Given the description of an element on the screen output the (x, y) to click on. 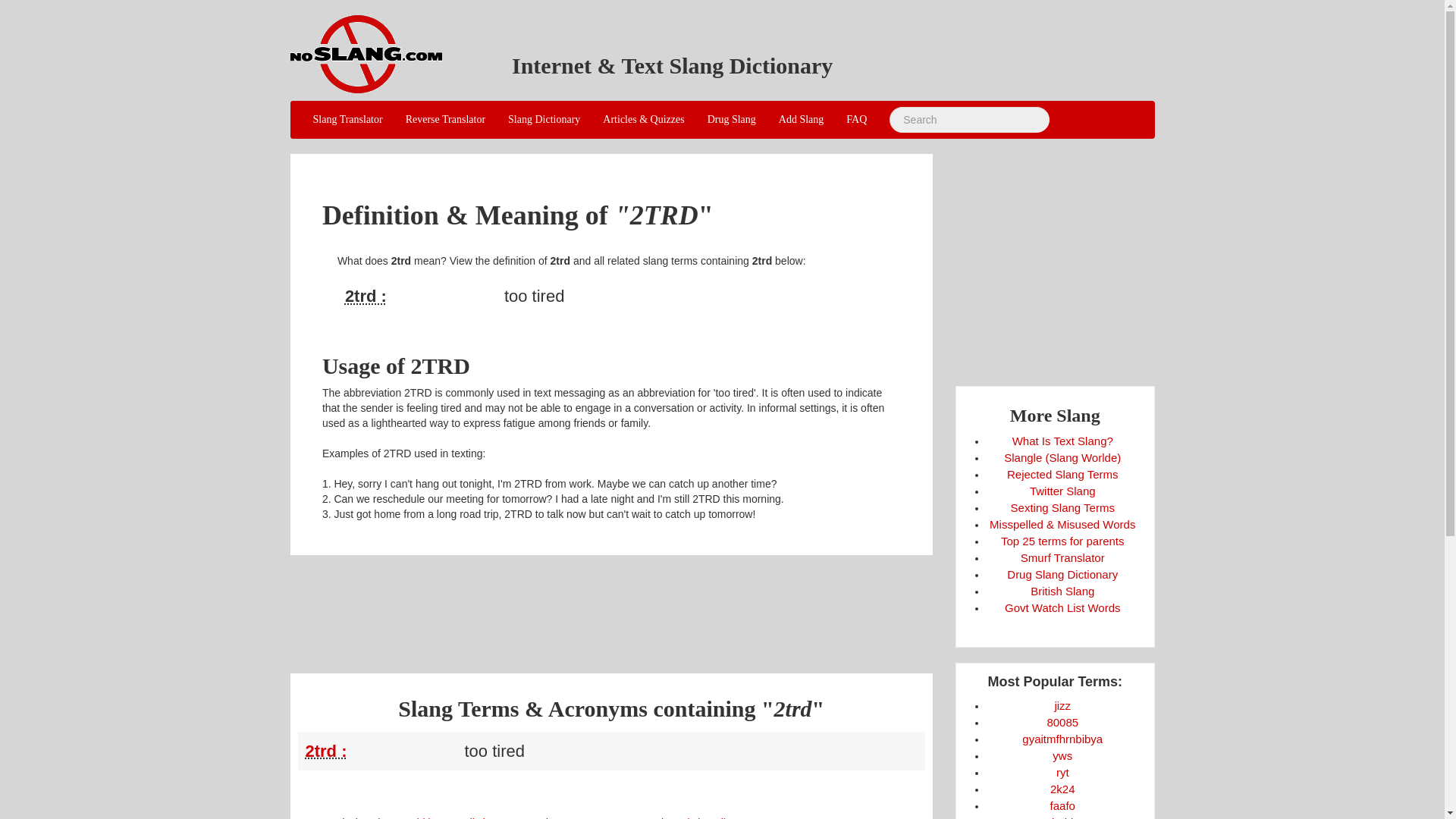
baby (1062, 817)
fuck around and find out (1062, 805)
Drug Slang Dictionary (1062, 574)
faafo (1062, 805)
Advertisement (610, 604)
ryt (1062, 771)
2k24 (1062, 788)
Boobs (1062, 721)
British Slang (1062, 590)
Smurf Translator (1062, 557)
